Given the description of an element on the screen output the (x, y) to click on. 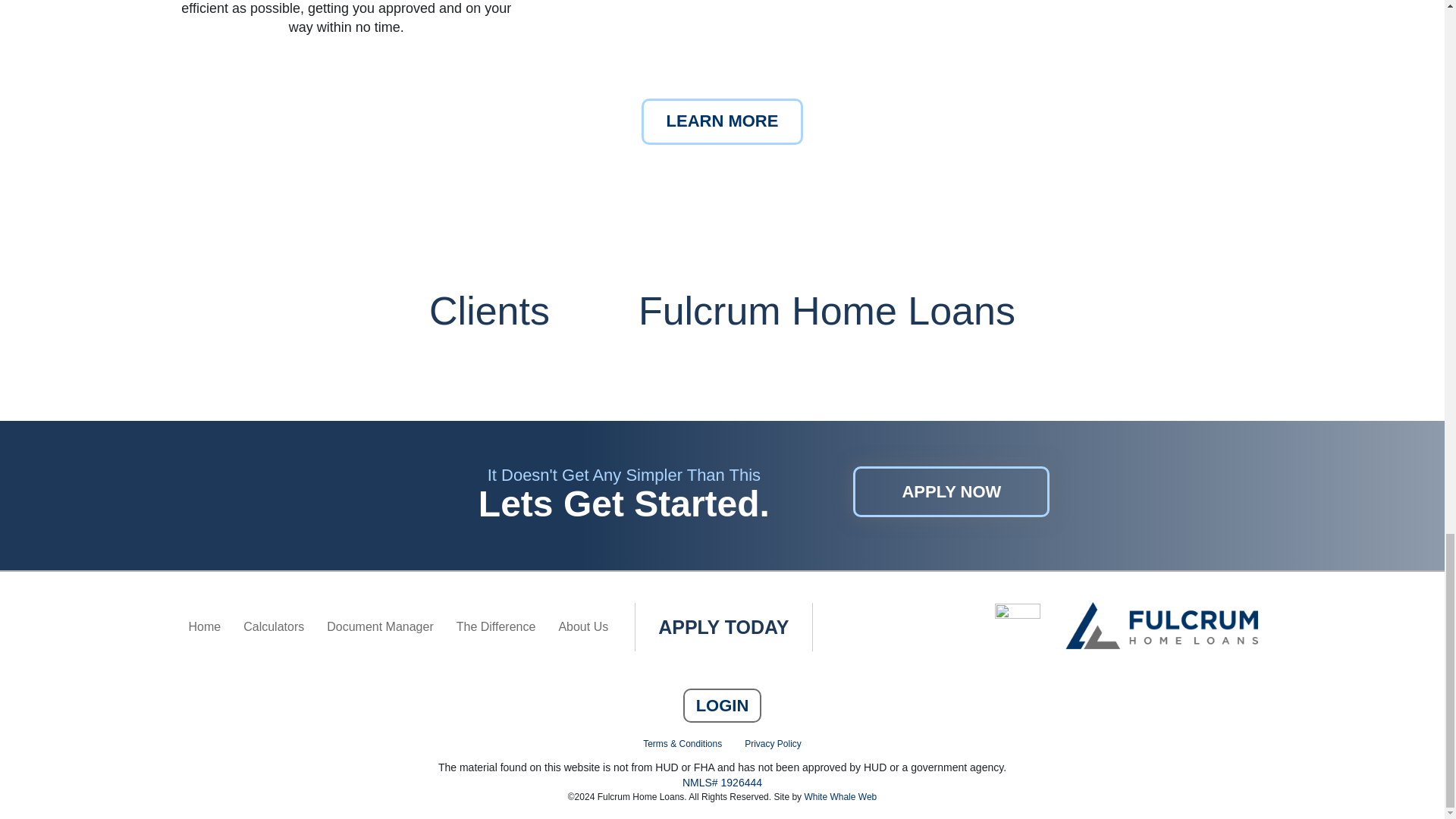
Document Manager (380, 626)
APPLY NOW (951, 491)
LOGIN (721, 705)
Privacy Policy (773, 743)
APPLY TODAY (723, 626)
Home (204, 626)
The Difference (496, 626)
About Us (583, 626)
Calculators (273, 626)
White Whale Web (839, 796)
